Given the description of an element on the screen output the (x, y) to click on. 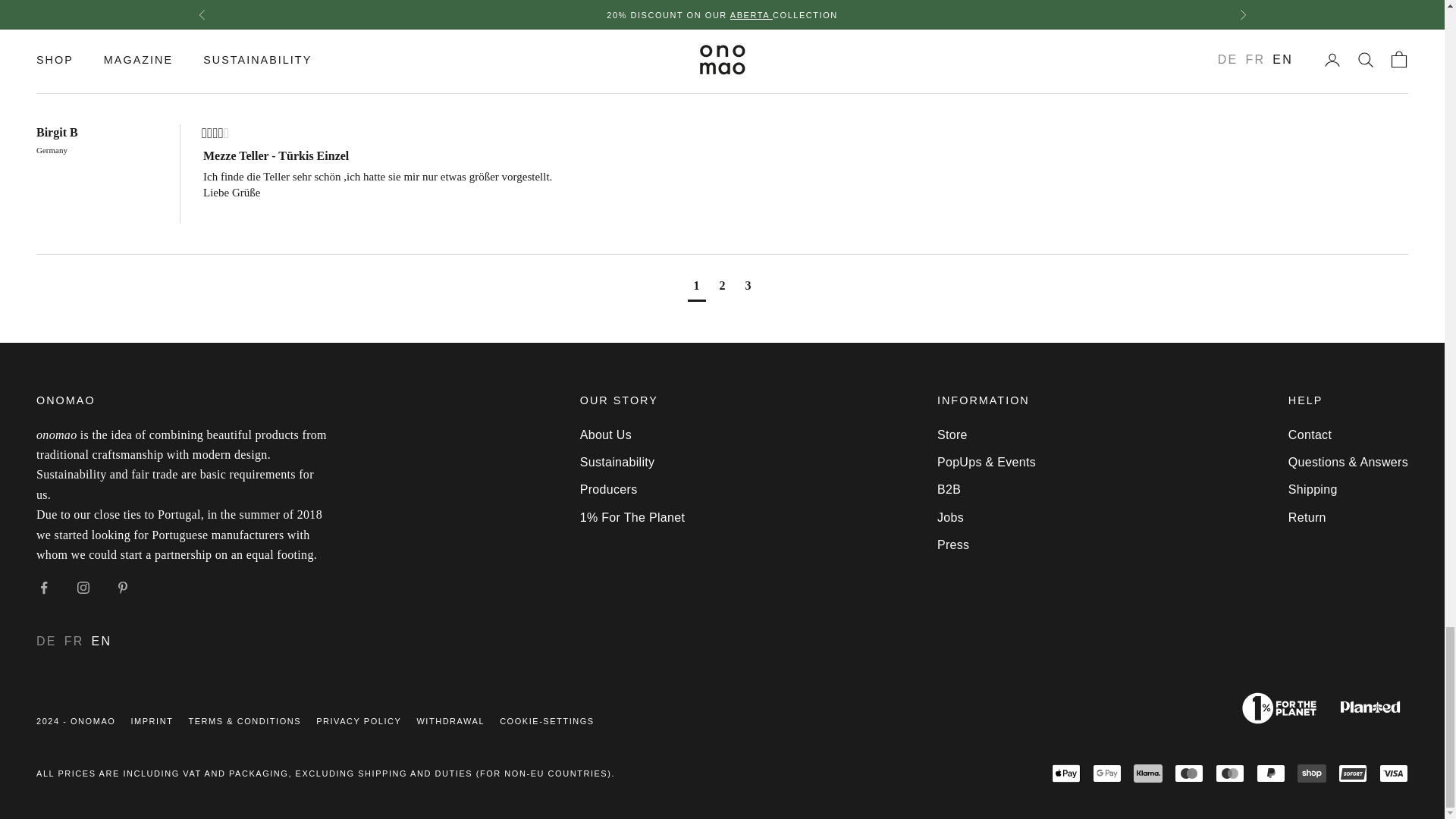
4 Stars (215, 134)
